Given the description of an element on the screen output the (x, y) to click on. 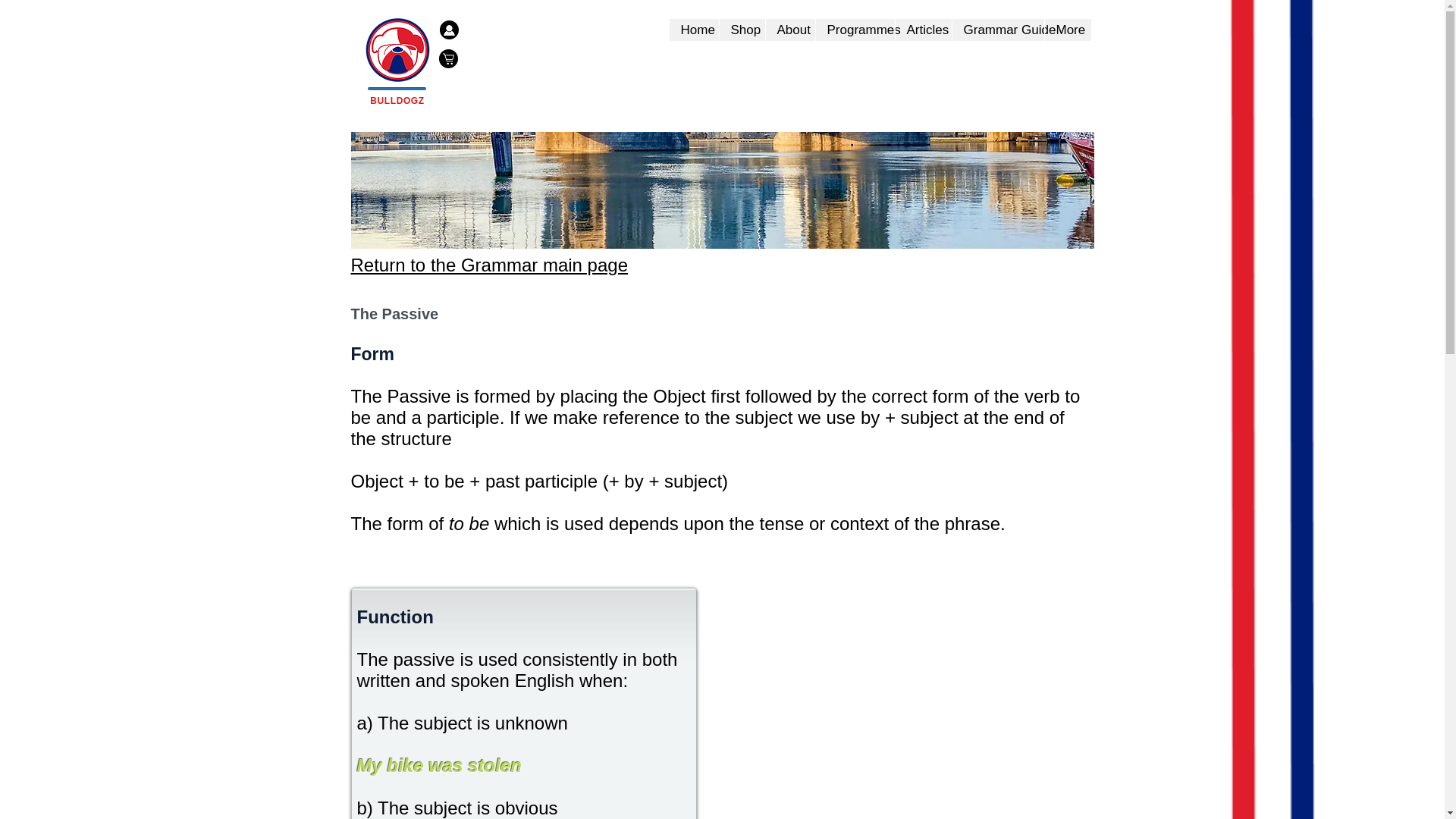
Home (692, 29)
Return to the Grammar main page (488, 264)
About (788, 29)
Programmes (853, 29)
Shop (742, 29)
Grammar Guide (996, 29)
Articles (923, 29)
BULLDOGZ (396, 100)
Embedded Content (566, 47)
